Given the description of an element on the screen output the (x, y) to click on. 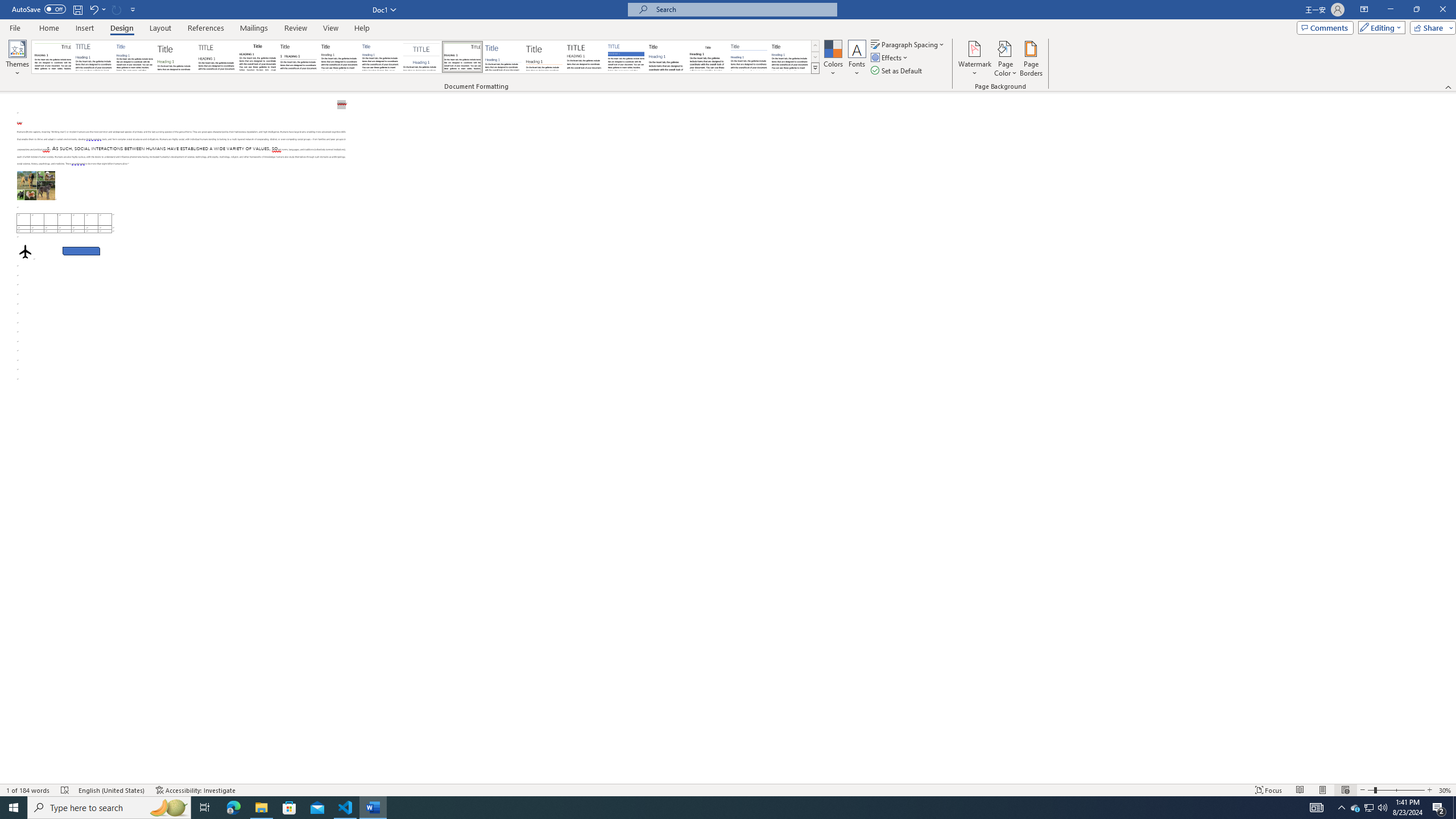
Basic (Stylish) (175, 56)
Lines (Simple) (503, 56)
Black & White (Capitalized) (216, 56)
Black & White (Word 2013) (338, 56)
Rectangle: Diagonal Corners Snipped 2 (81, 250)
Effects (890, 56)
Page Color (1005, 58)
Airplane with solid fill (25, 251)
Lines (Distinctive) (462, 56)
Can't Repeat (117, 9)
